Given the description of an element on the screen output the (x, y) to click on. 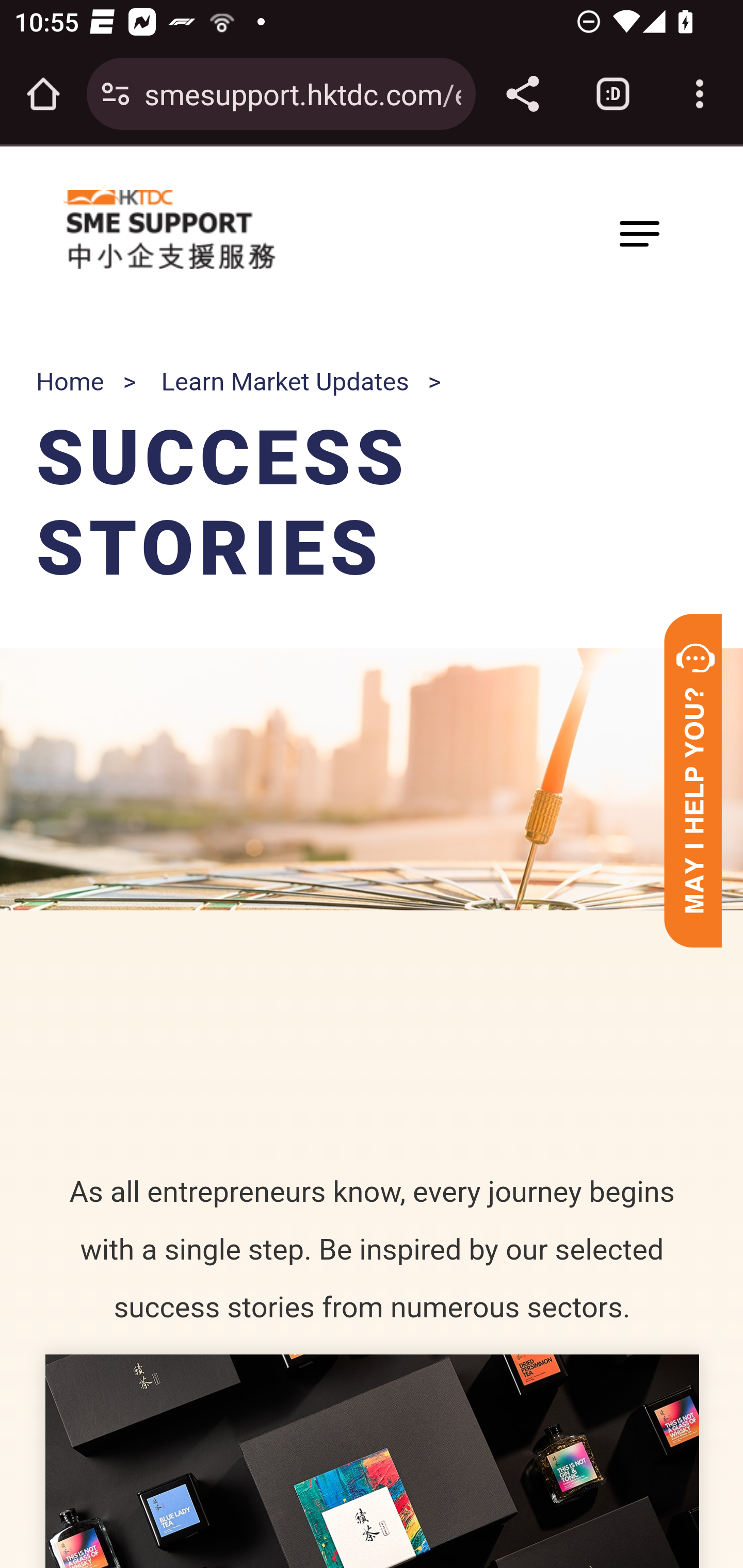
Open the home page (43, 93)
Connection is secure (115, 93)
Share (522, 93)
Switch or close tabs (612, 93)
Customize and control Google Chrome (699, 93)
HKTDC SME Support (169, 229)
Toggle navigation (638, 233)
Home (70, 381)
